Given the description of an element on the screen output the (x, y) to click on. 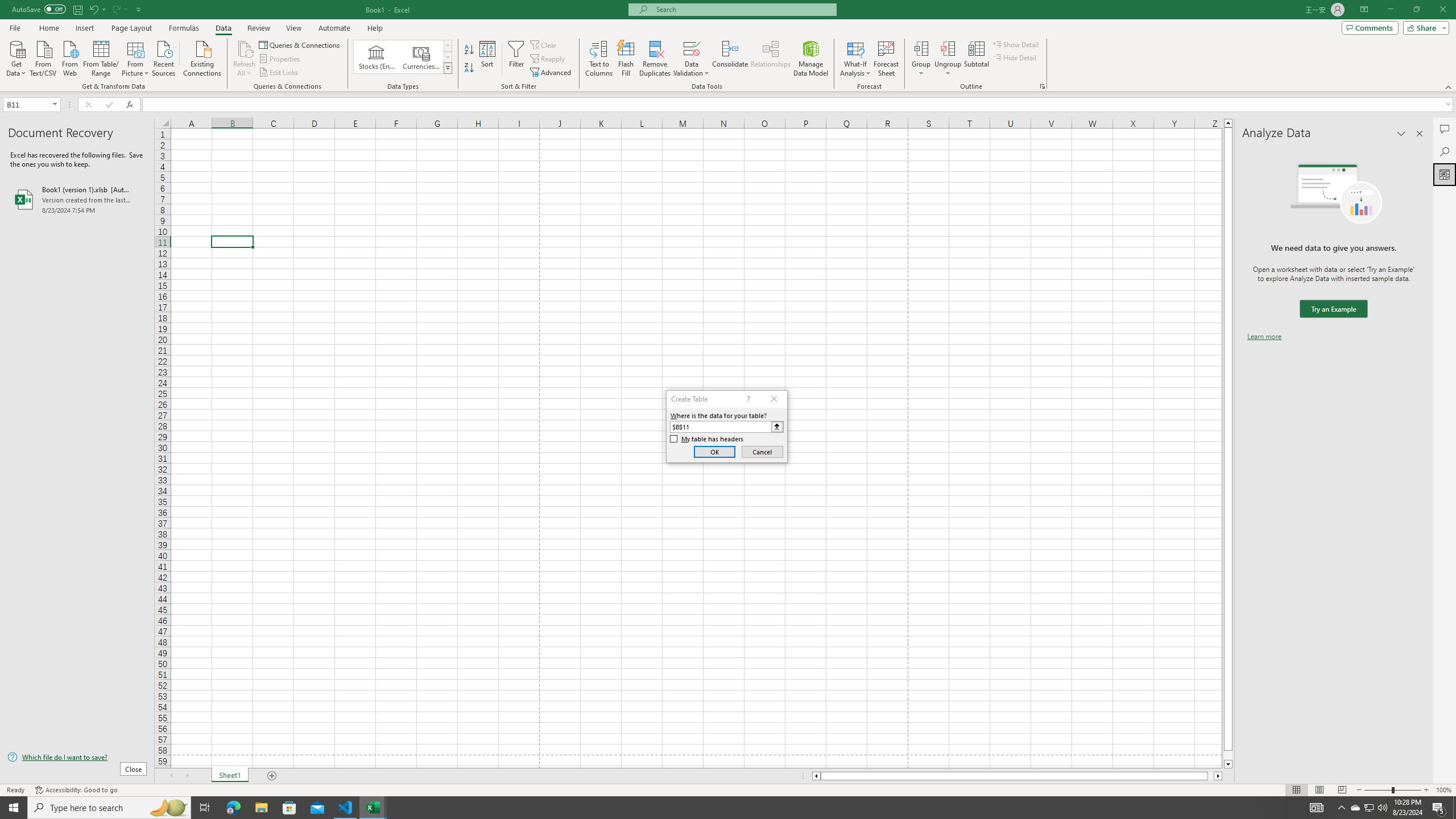
Sort Z to A (469, 67)
Learn more (1264, 336)
